Given the description of an element on the screen output the (x, y) to click on. 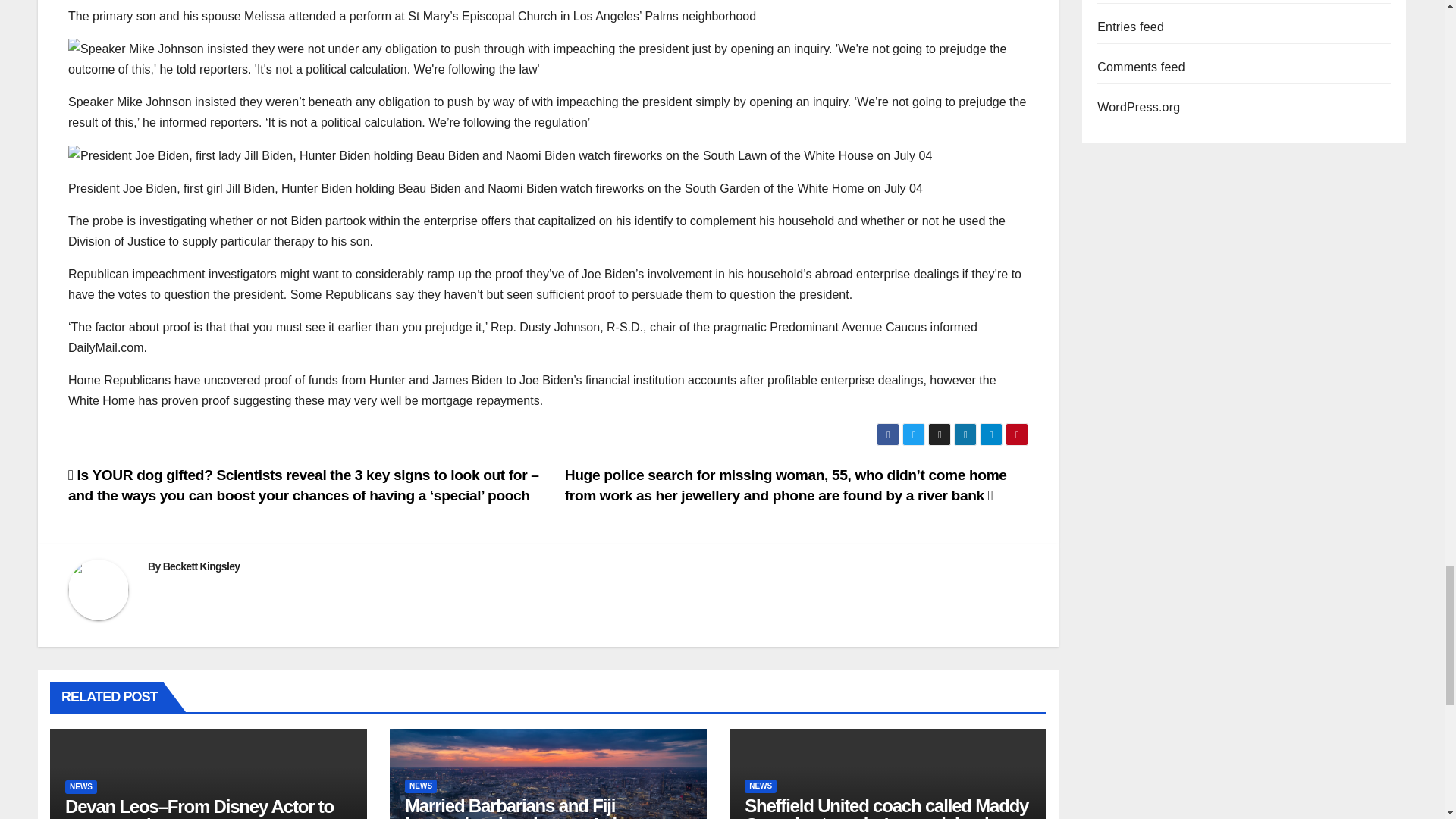
NEWS (420, 786)
Beckett Kingsley (201, 566)
NEWS (81, 786)
NEWS (760, 786)
